Given the description of an element on the screen output the (x, y) to click on. 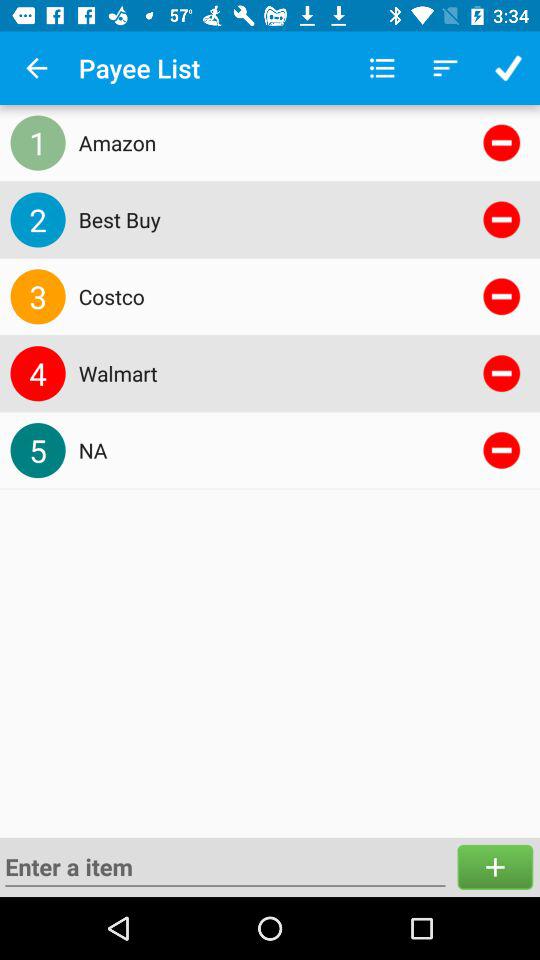
tap the icon below 5 item (225, 866)
